Given the description of an element on the screen output the (x, y) to click on. 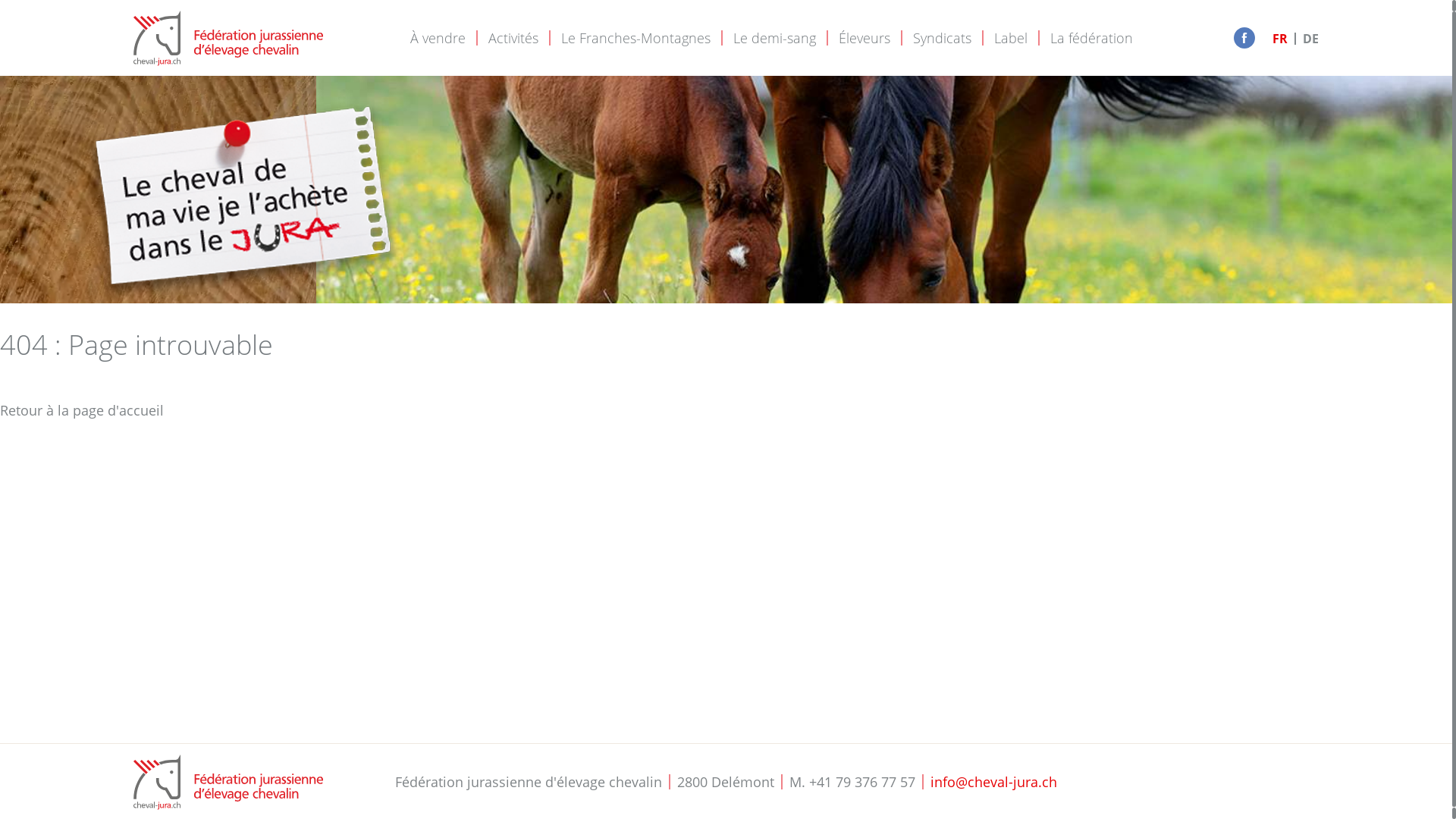
Le Franches-Montagnes Element type: text (635, 38)
Label Element type: text (1010, 38)
info@cheval-jura.ch Element type: text (993, 781)
DE Element type: text (1310, 38)
Syndicats Element type: text (941, 38)
FCJC Element type: text (228, 781)
Le demi-sang Element type: text (774, 38)
